Given the description of an element on the screen output the (x, y) to click on. 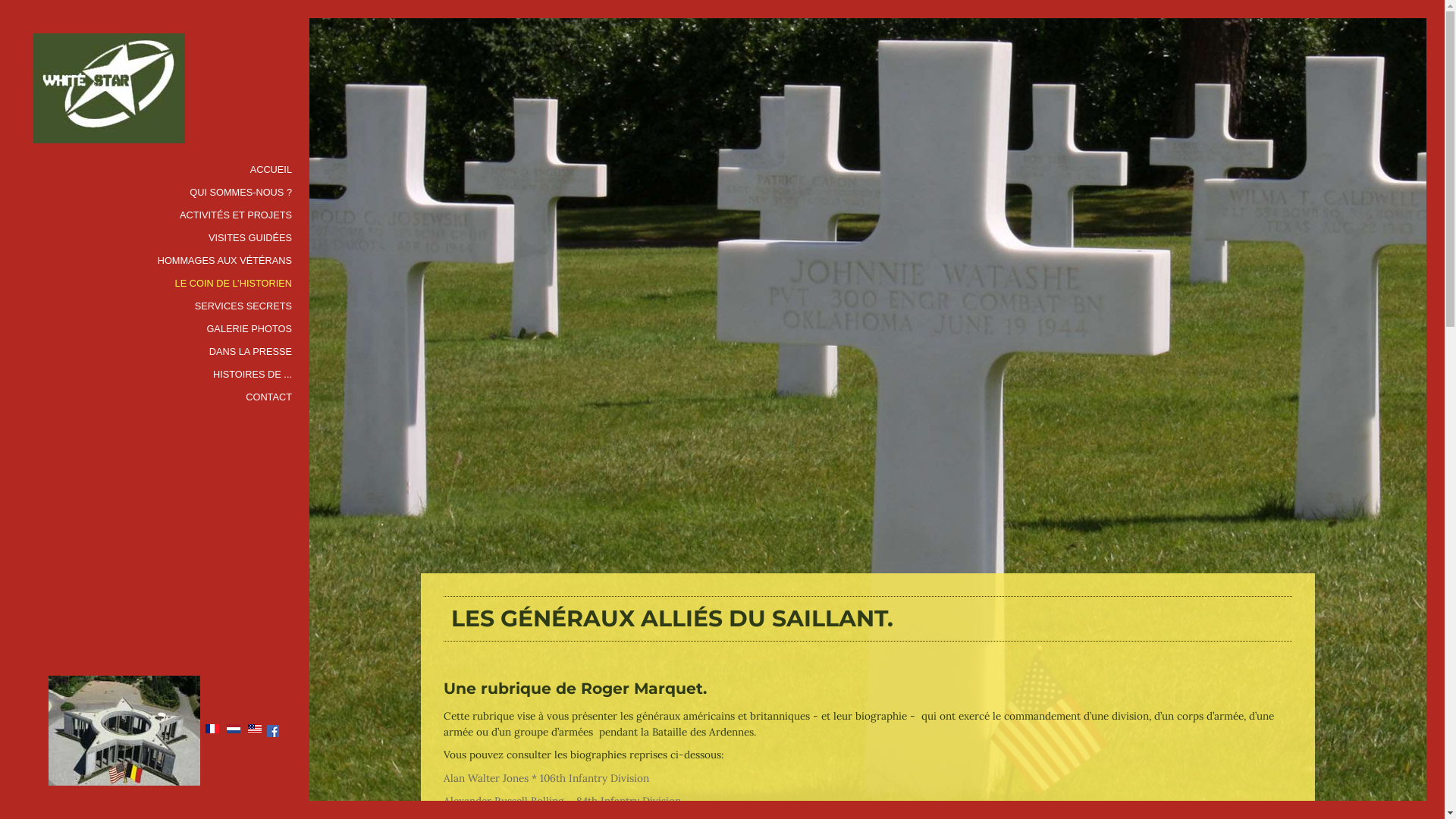
Alan Walter Jones * 106th Infantry Division Element type: text (546, 777)
ACCUEIL Element type: text (272, 169)
QUI SOMMES-NOUS ? Element type: text (241, 192)
English (United Kingdom) Element type: hover (254, 728)
GALERIE PHOTOS Element type: text (250, 328)
DANS LA PRESSE Element type: text (251, 351)
SERVICES SECRETS Element type: text (244, 305)
HISTOIRES DE ... Element type: text (253, 374)
Facebook Element type: hover (272, 729)
Nederlands nl-NL Element type: hover (233, 728)
CONTACT Element type: text (269, 396)
